Given the description of an element on the screen output the (x, y) to click on. 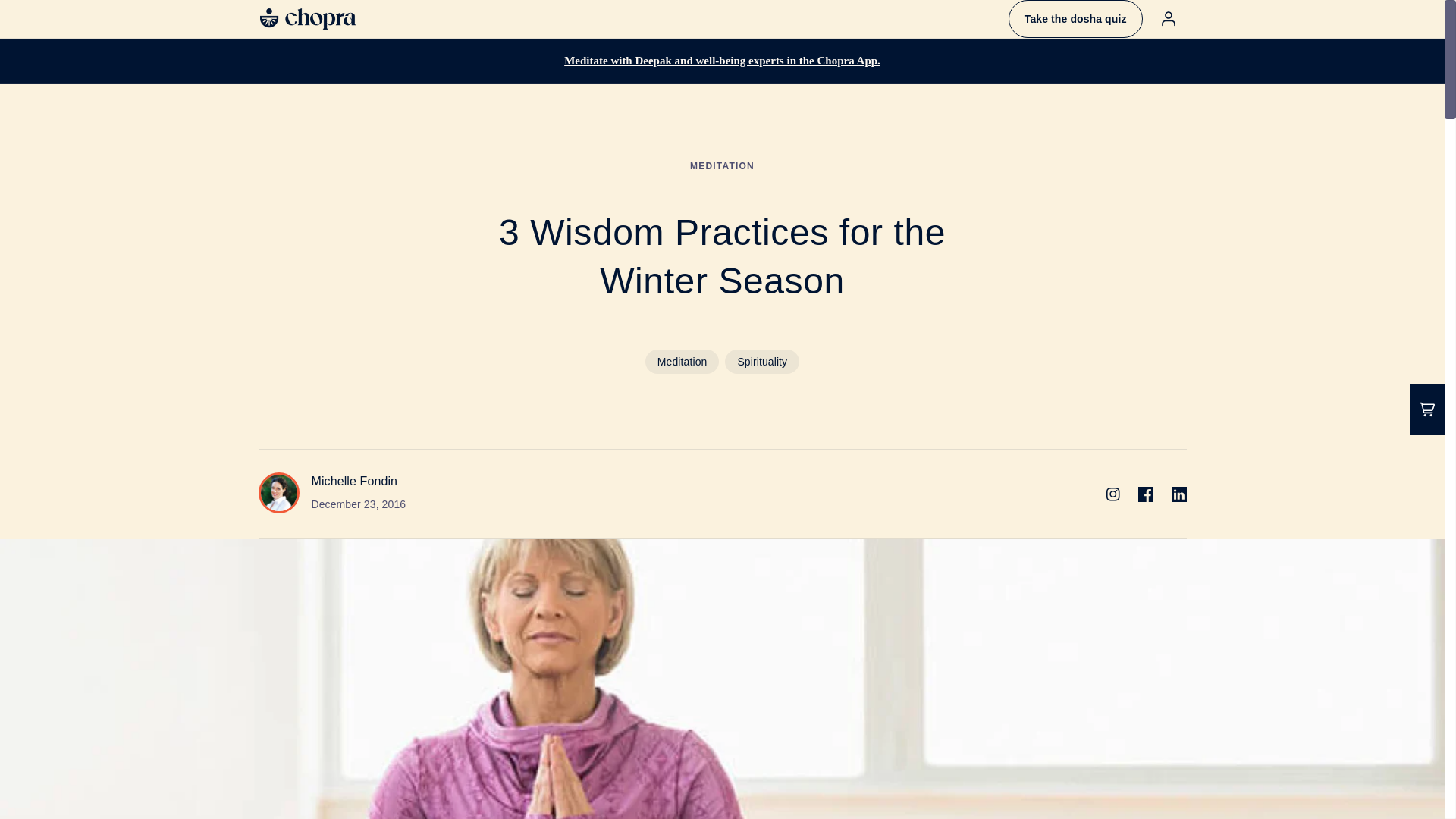
Michelle Fondin (354, 481)
LinkedIn (1178, 494)
Facebook (1145, 494)
MEDITATION (722, 165)
Spirituality (762, 361)
Skip to content (45, 17)
LinkedIn (1178, 494)
Meditation (682, 361)
Facebook (1145, 494)
Take the dosha quiz (1075, 18)
